Given the description of an element on the screen output the (x, y) to click on. 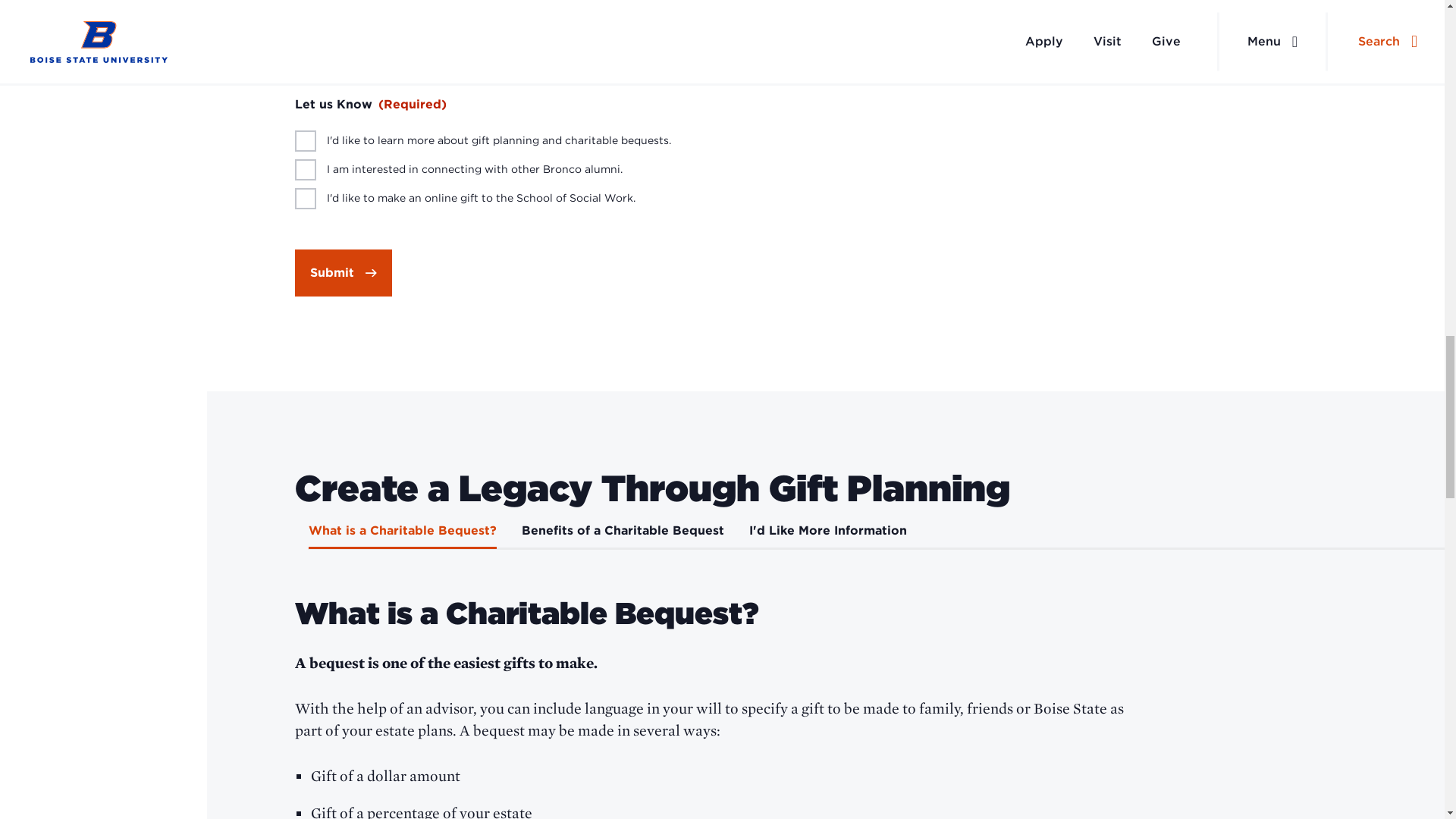
Submit (342, 272)
What is a Charitable Bequest? (402, 534)
I am interested in connecting with other Bronco alumni. (303, 166)
Benefits of a Charitable Bequest (622, 534)
